Given the description of an element on the screen output the (x, y) to click on. 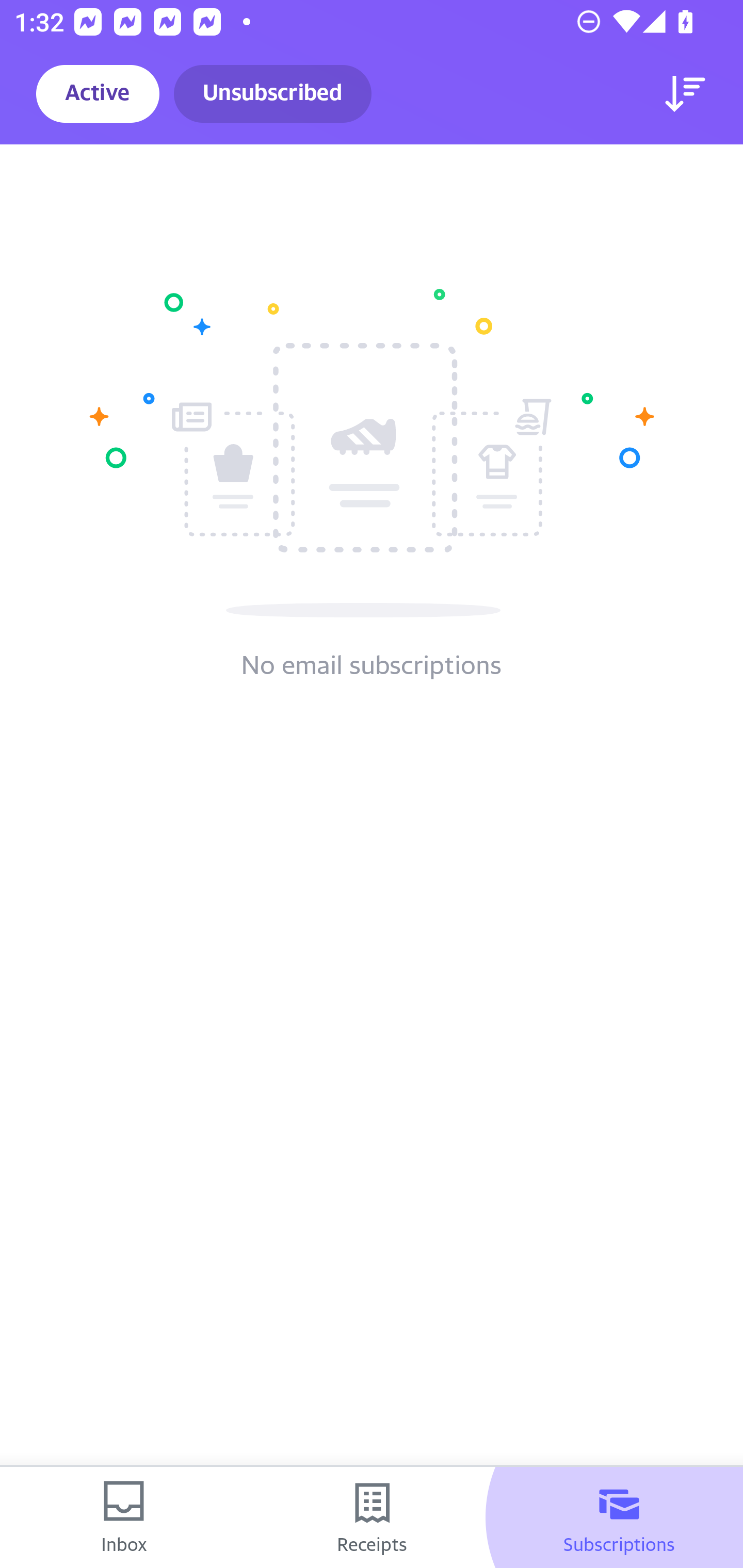
Unsubscribed (272, 93)
Sort (684, 93)
Inbox (123, 1517)
Receipts (371, 1517)
Subscriptions (619, 1517)
